Given the description of an element on the screen output the (x, y) to click on. 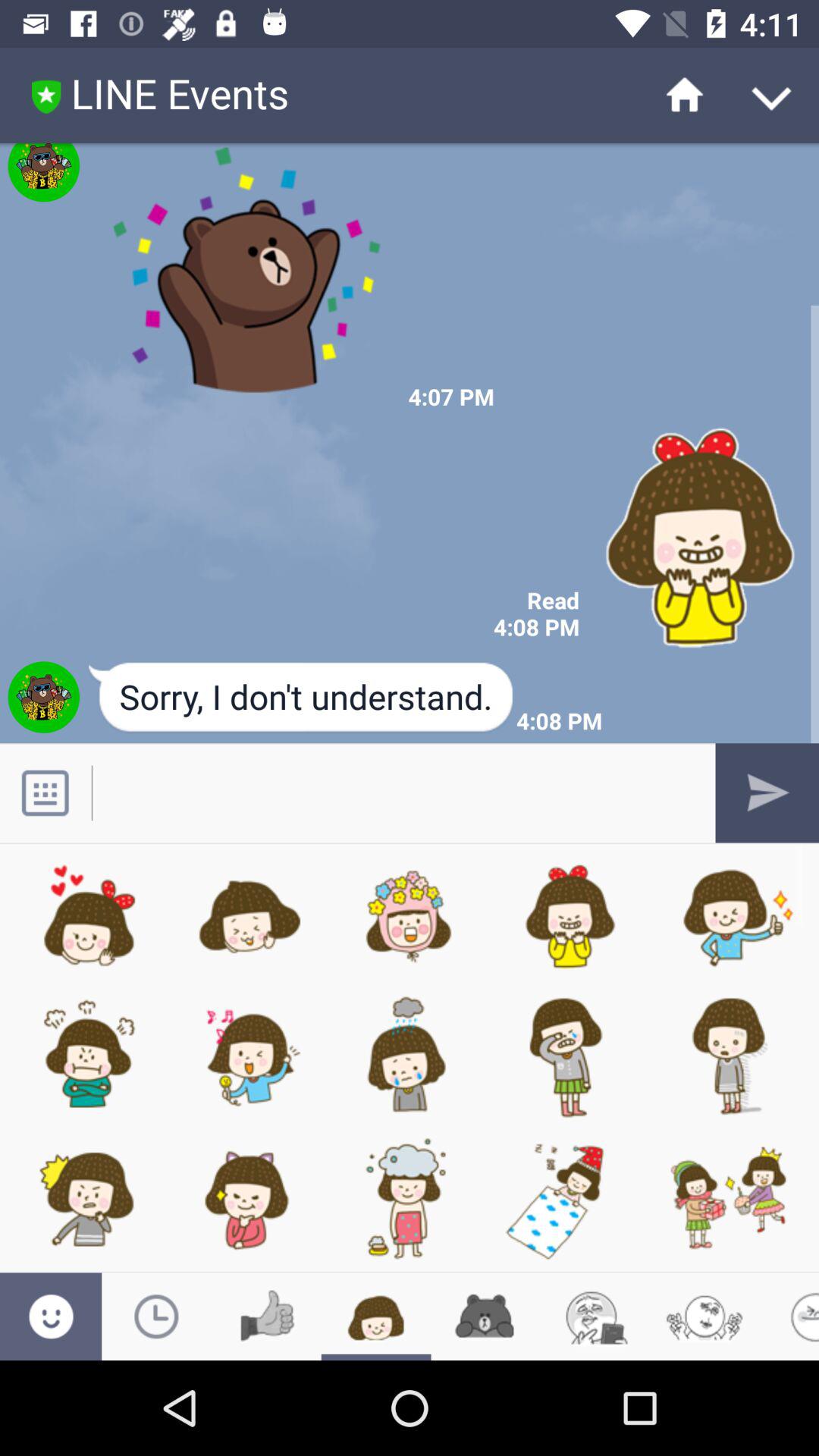
turn off the app next to the 4:08 pm (301, 698)
